Given the description of an element on the screen output the (x, y) to click on. 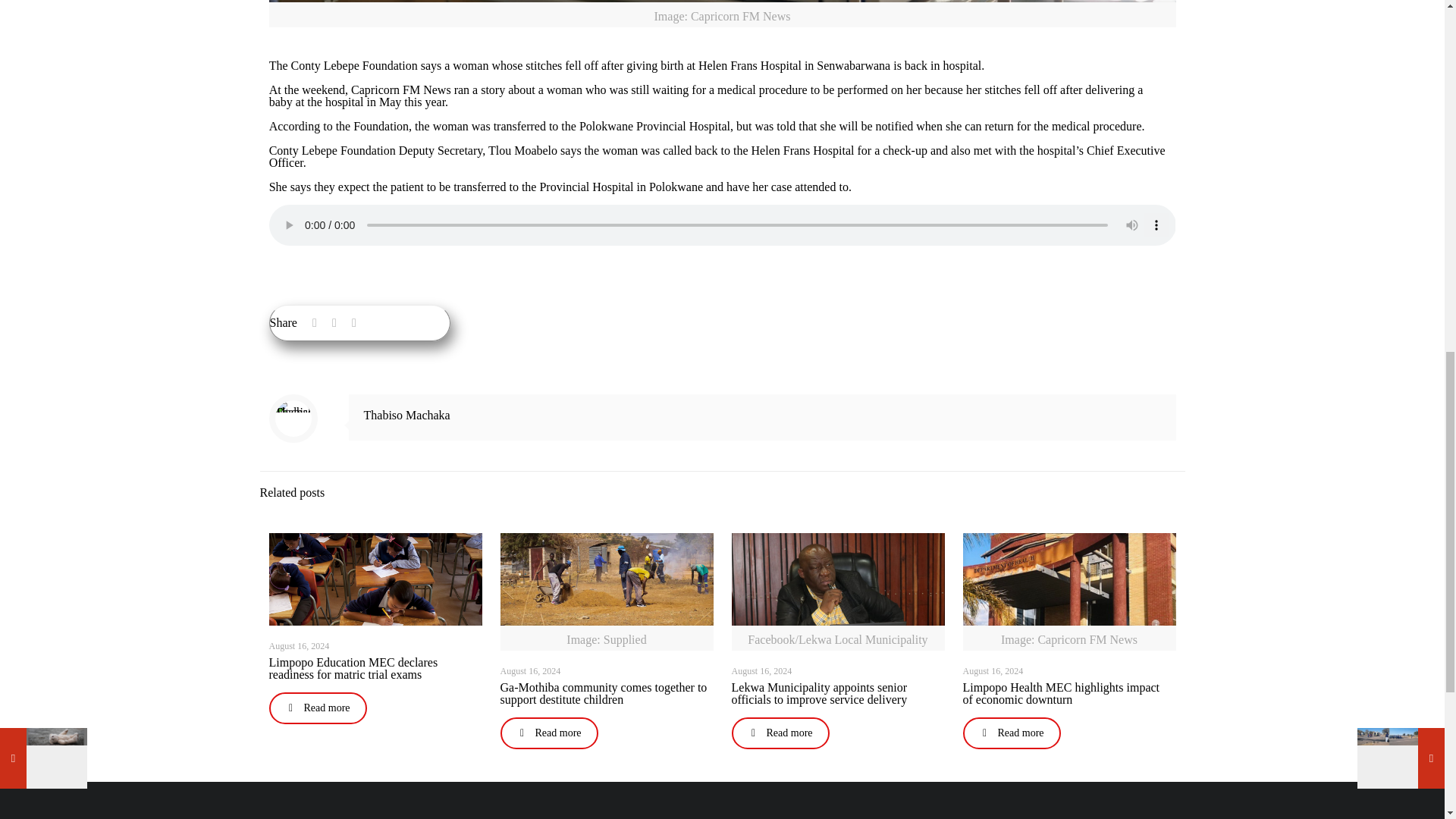
Thabiso Machaka (406, 414)
Read more (316, 707)
Read more (549, 733)
Read more (779, 733)
